Given the description of an element on the screen output the (x, y) to click on. 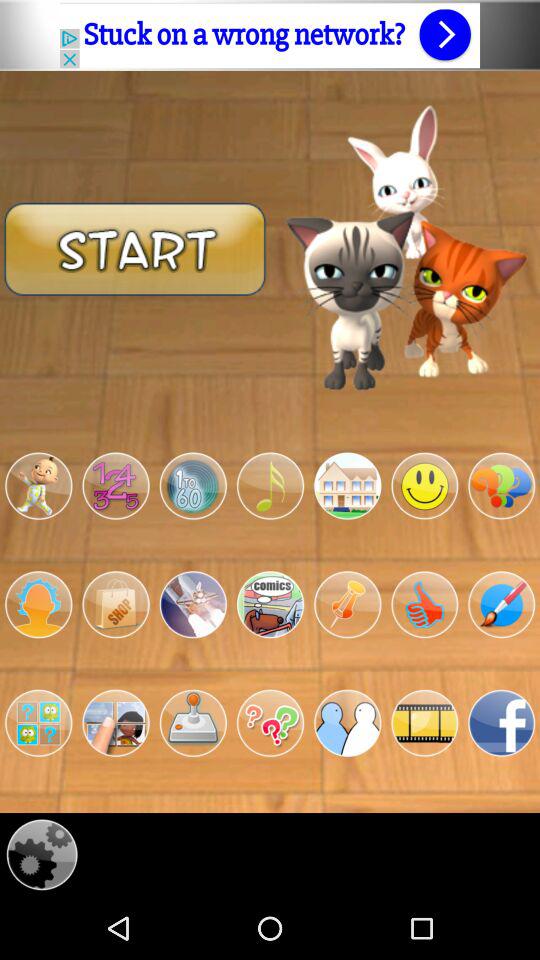
start game (135, 248)
